Given the description of an element on the screen output the (x, y) to click on. 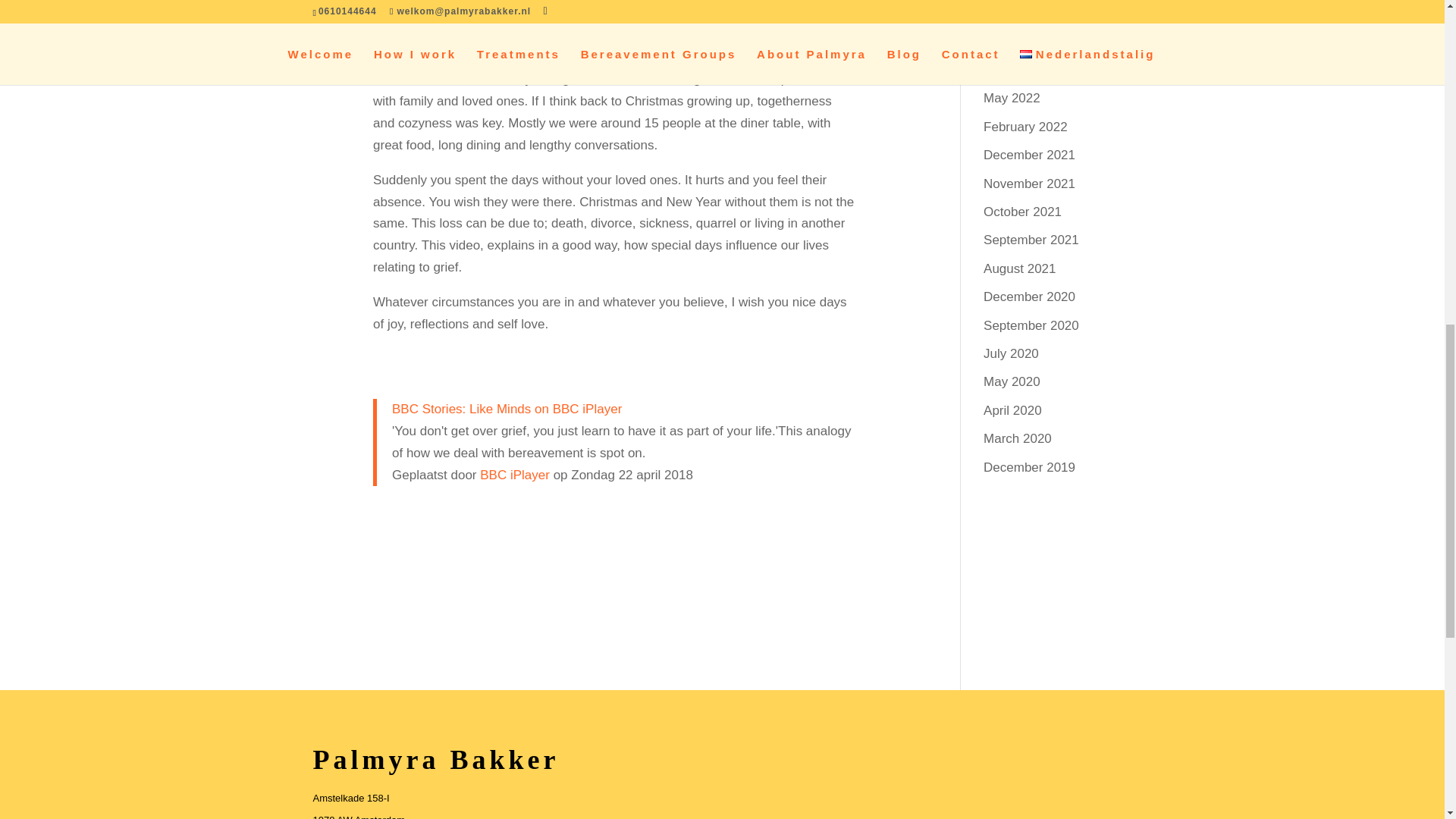
BBC iPlayer (515, 473)
October 2023 (1022, 12)
November 2022 (1029, 69)
February 2022 (1025, 126)
May 2022 (1012, 97)
December 2021 (1029, 155)
December 2022 (1029, 42)
November 2021 (1029, 183)
BBC Stories: Like Minds on BBC iPlayer (506, 409)
